Given the description of an element on the screen output the (x, y) to click on. 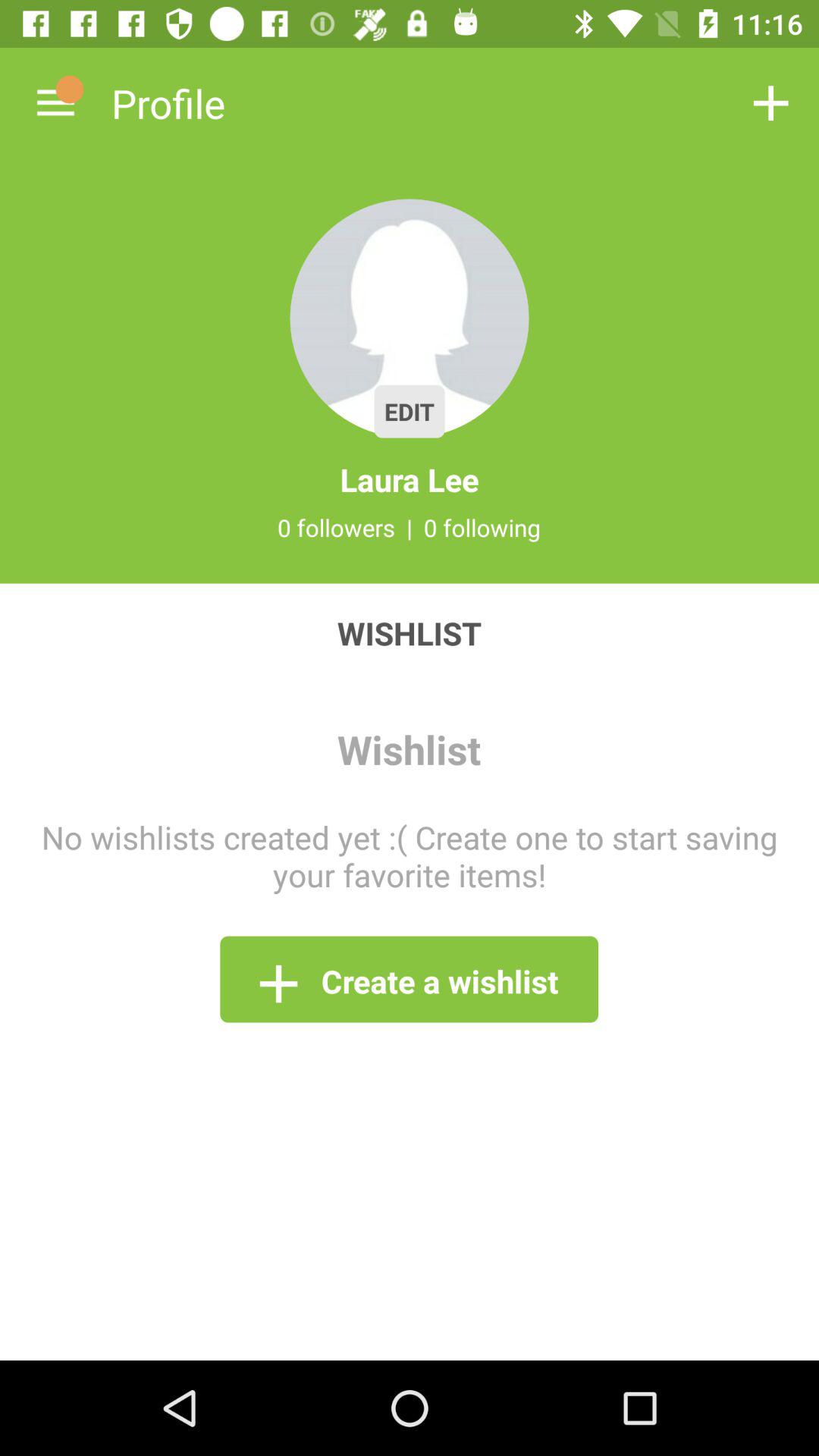
click item above wishlist item (481, 527)
